Given the description of an element on the screen output the (x, y) to click on. 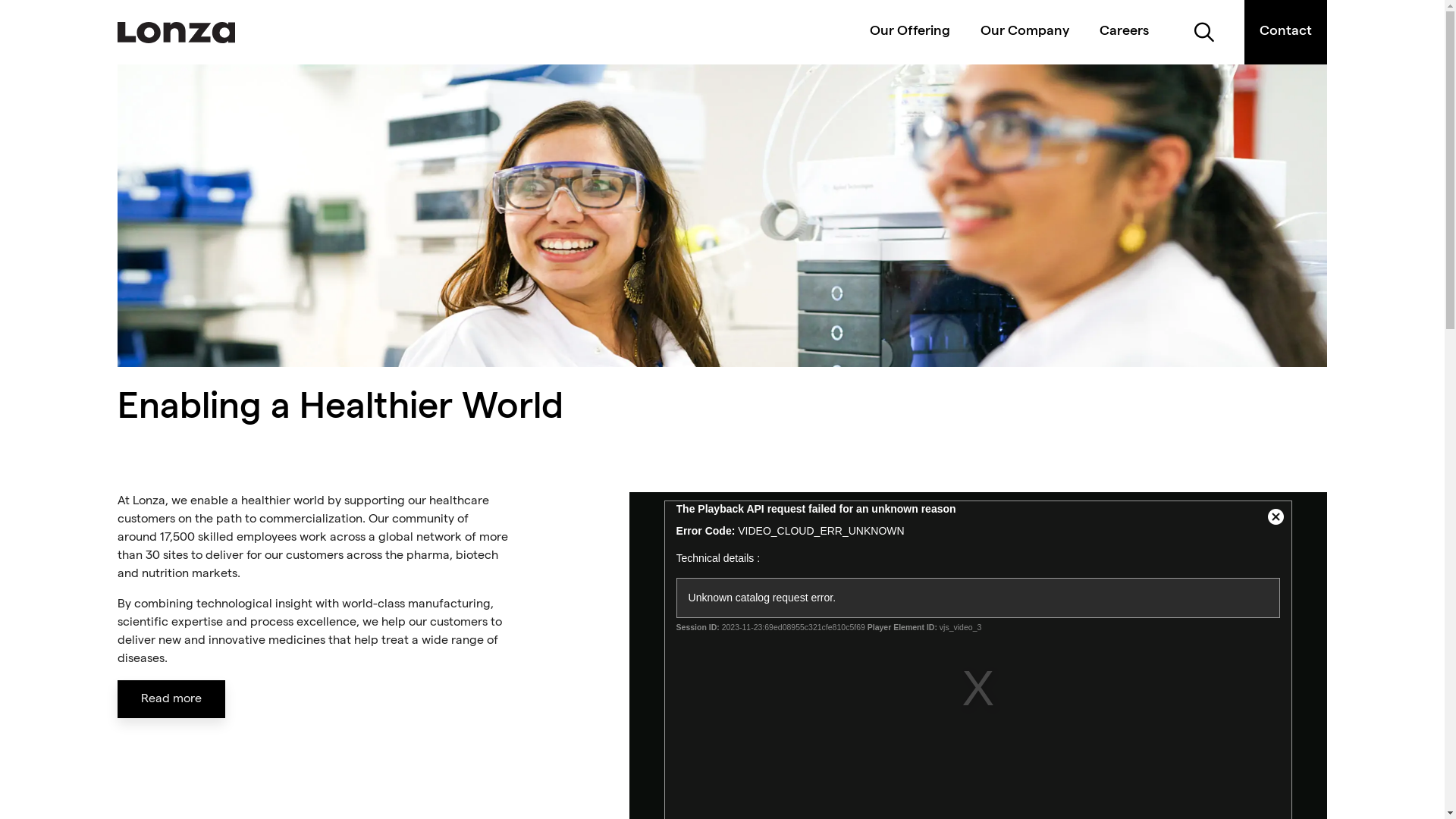
Read more Element type: text (171, 699)
Contact Element type: text (1285, 32)
Close Modal Dialog Element type: text (1275, 517)
